Given the description of an element on the screen output the (x, y) to click on. 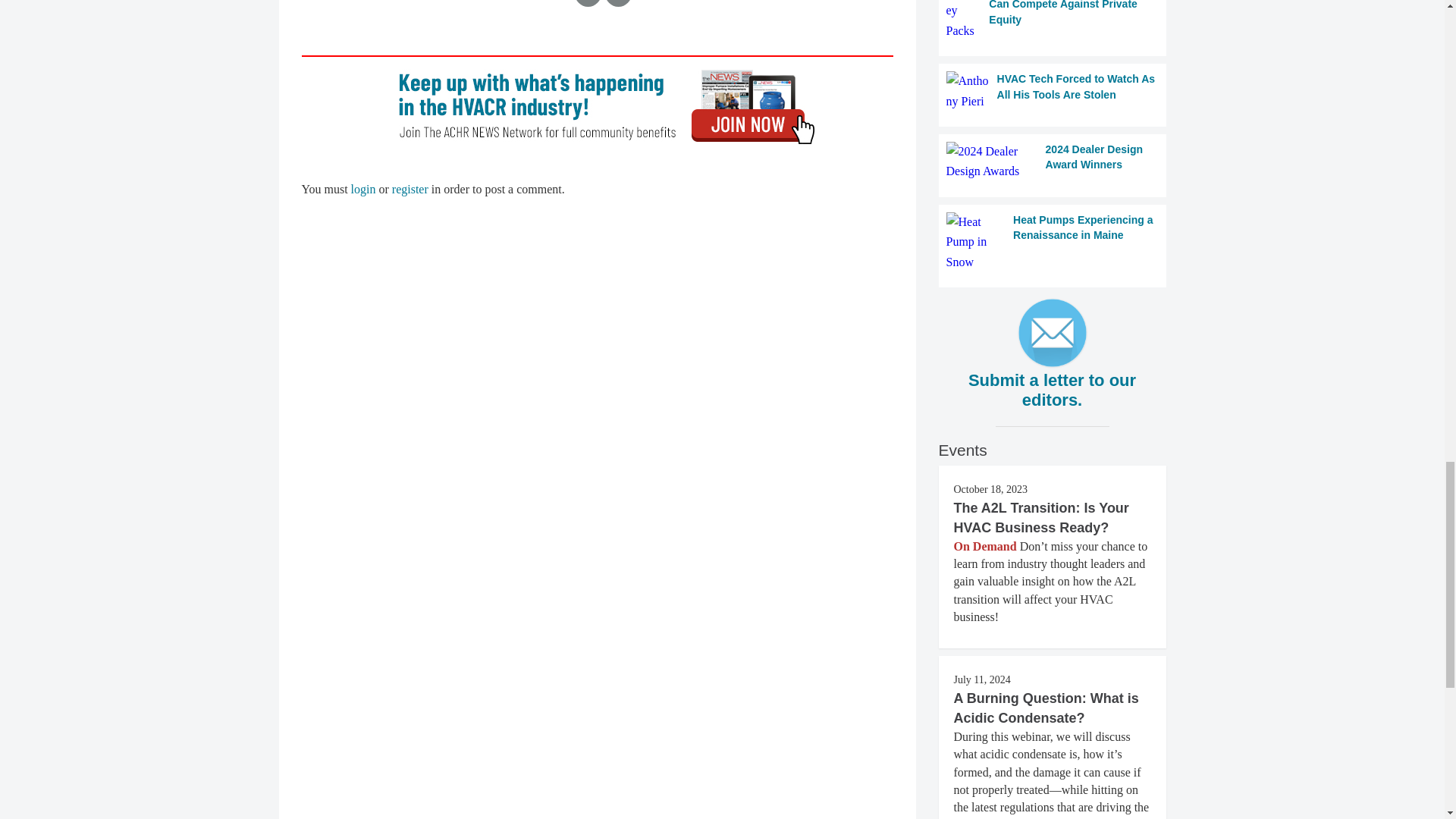
Heat Pumps Experiencing a Renaissance in Maine (1052, 241)
HVAC Tech Forced to Watch As All His Tools Are Stolen (1052, 91)
The A2L Transition: Is Your HVAC Business Ready? (1041, 517)
2024 Dealer Design Award Winners (1052, 161)
A Burning Question: What is Acidic Condensate? (1045, 708)
